Given the description of an element on the screen output the (x, y) to click on. 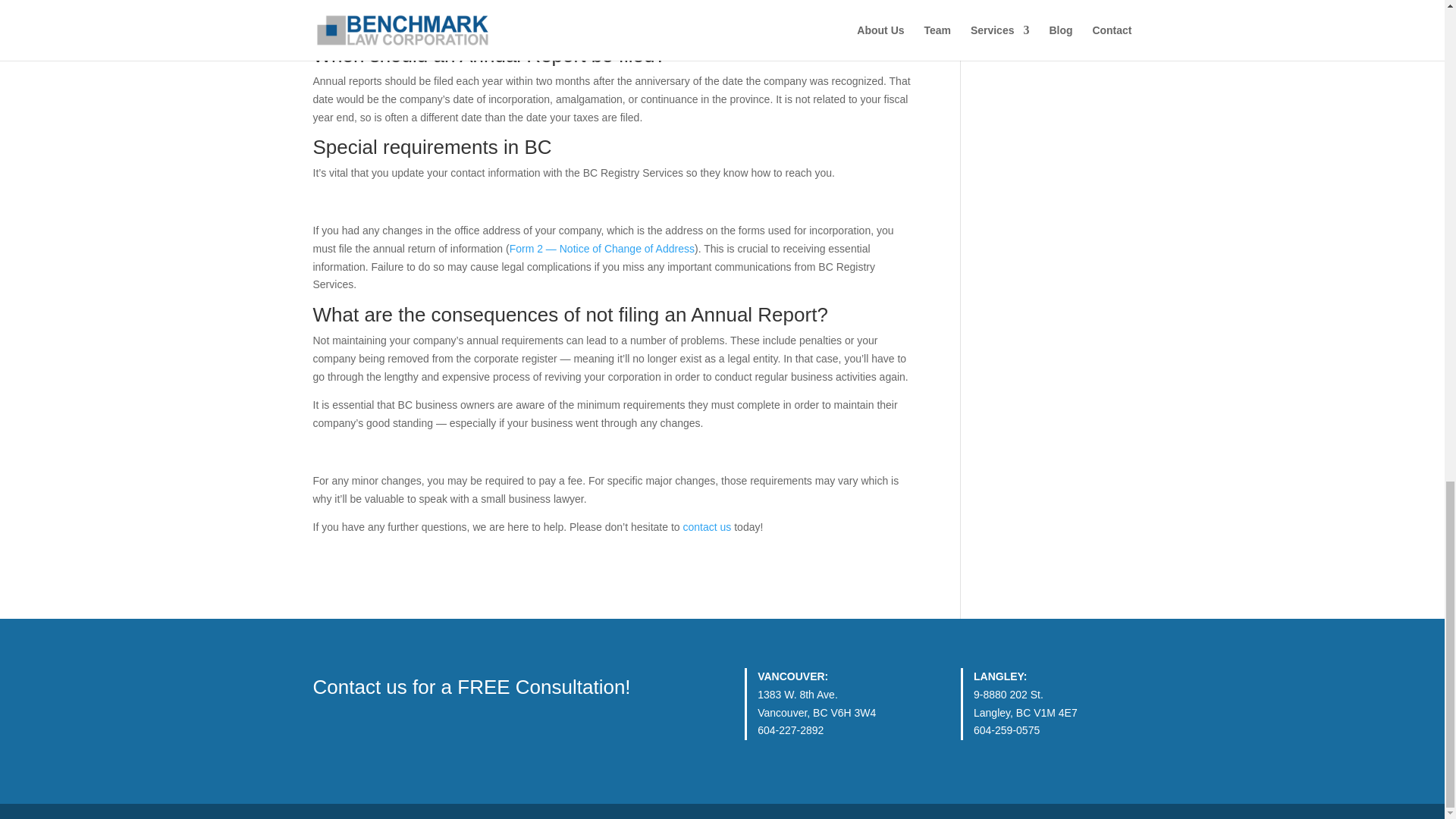
contact us (706, 526)
corporation minute book article here (580, 24)
Contact us for a FREE Consultation! (471, 686)
